Given the description of an element on the screen output the (x, y) to click on. 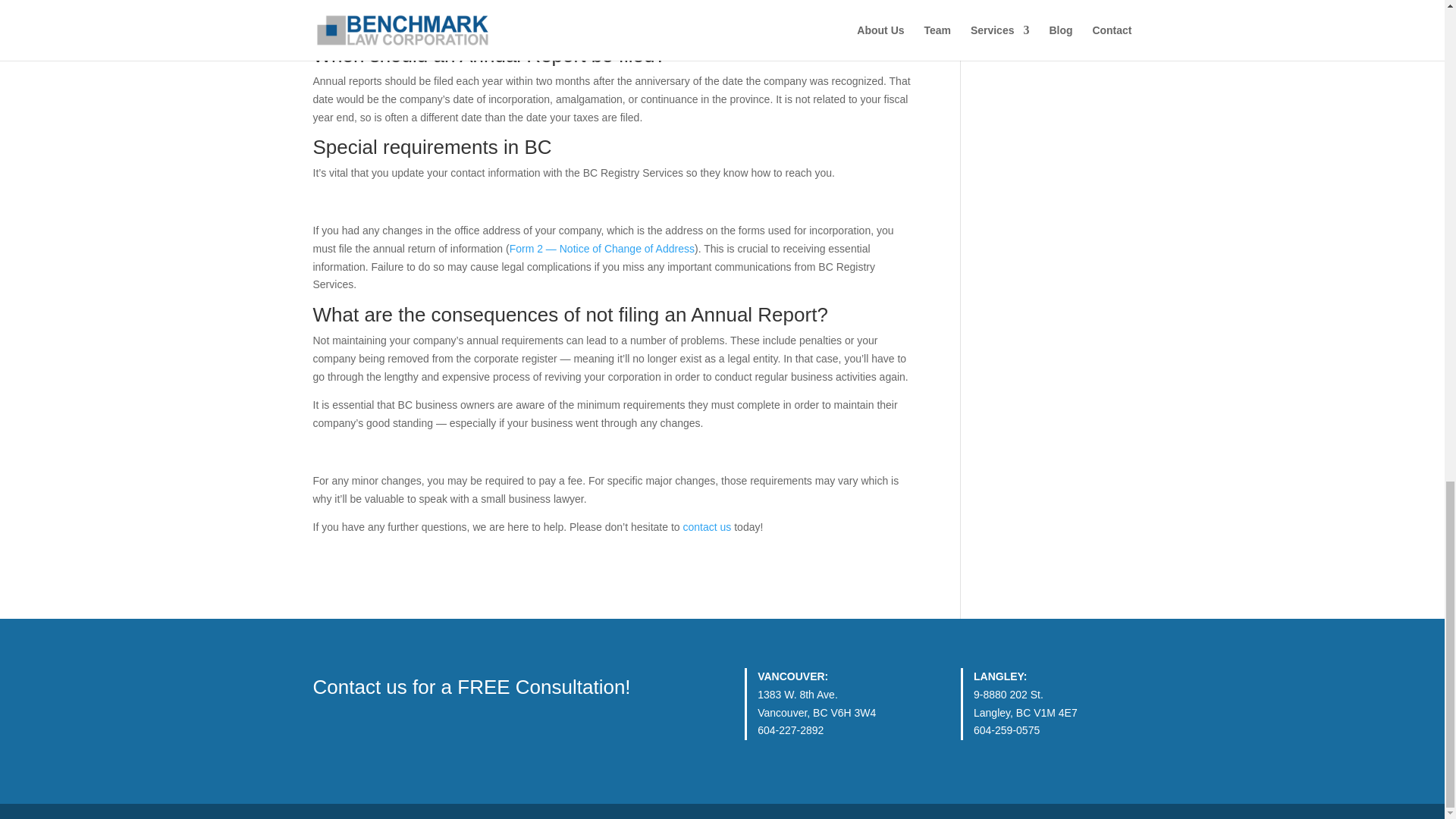
contact us (706, 526)
corporation minute book article here (580, 24)
Contact us for a FREE Consultation! (471, 686)
